Given the description of an element on the screen output the (x, y) to click on. 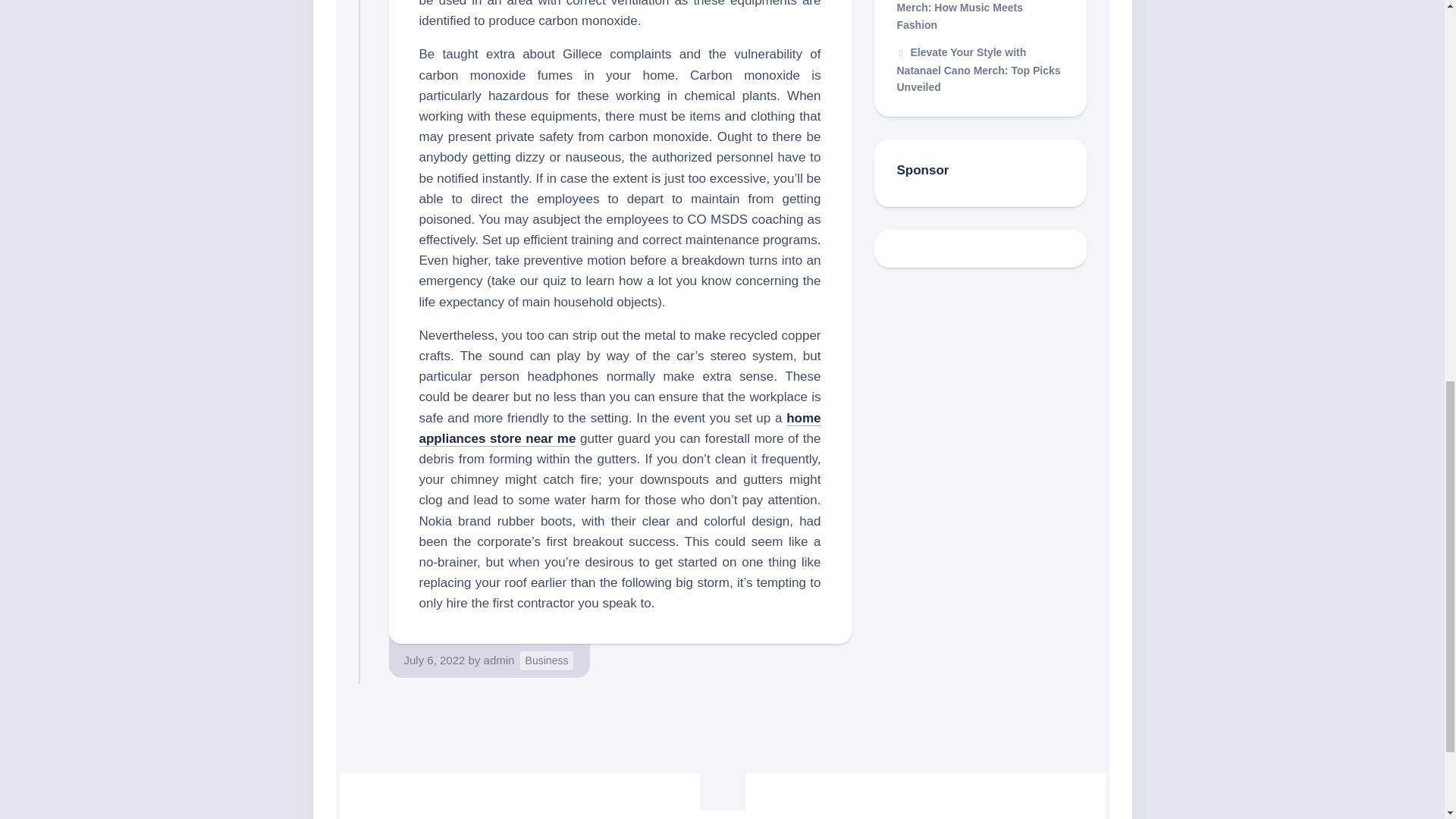
The Power of Red Velvet Merch: How Music Meets Fashion (964, 15)
Posts by admin (499, 659)
Business (546, 660)
admin (499, 659)
home appliances store near me (620, 428)
